Given the description of an element on the screen output the (x, y) to click on. 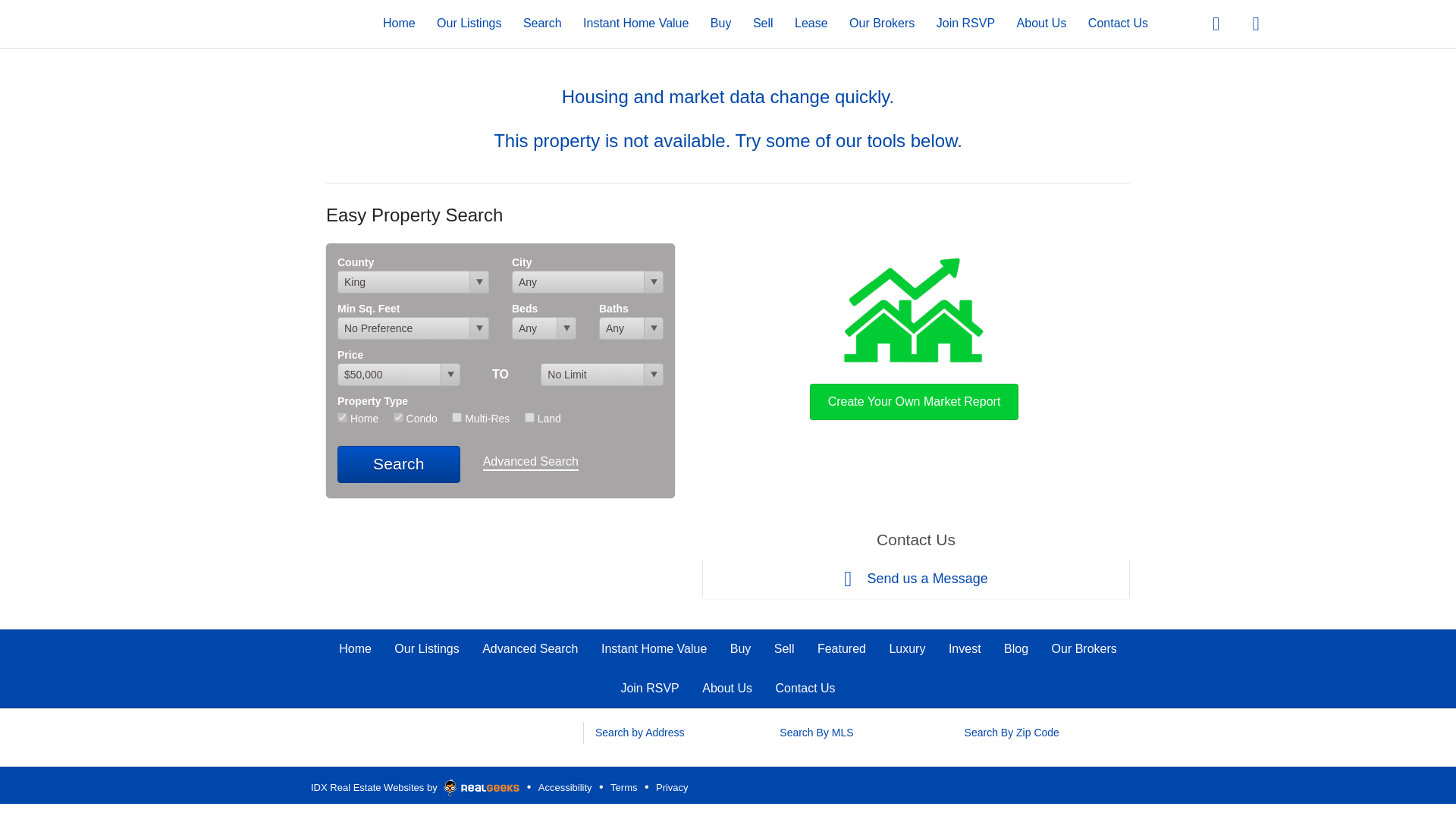
Search (542, 22)
Create Your Own Market Report (913, 335)
res (342, 417)
Contact Us (804, 687)
Our Brokers (881, 22)
con (398, 417)
mul (456, 417)
Search (398, 463)
Send us a Message (915, 578)
Luxury (906, 648)
Our Listings (426, 648)
Search (398, 463)
Sell (762, 22)
Instant Home Value (635, 22)
Advanced Search (530, 462)
